Given the description of an element on the screen output the (x, y) to click on. 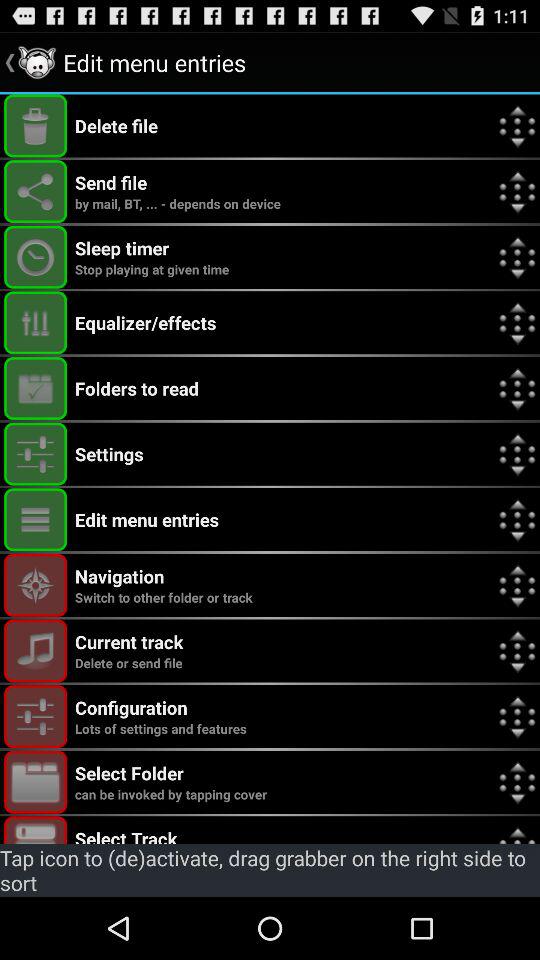
show folders (35, 388)
